Given the description of an element on the screen output the (x, y) to click on. 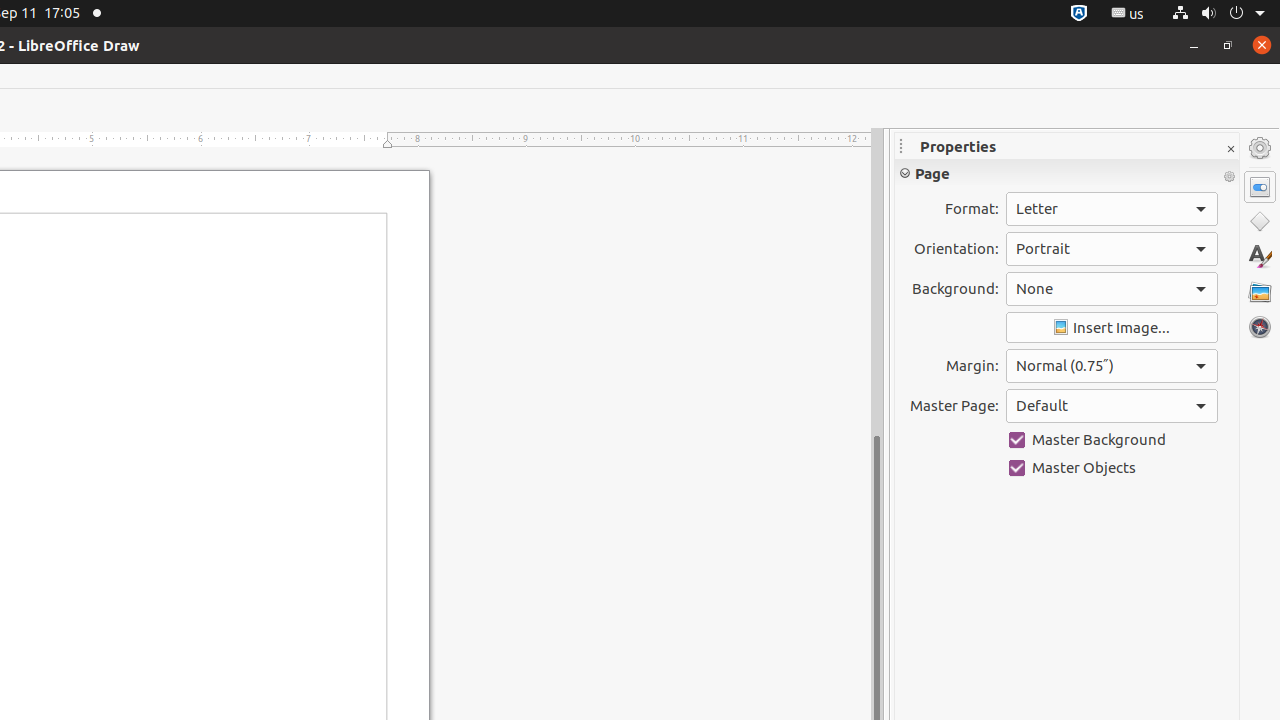
:1.21/StatusNotifierItem Element type: menu (1127, 13)
:1.72/StatusNotifierItem Element type: menu (1079, 13)
Shapes Element type: radio-button (1260, 222)
Gallery Element type: radio-button (1260, 292)
More Options Element type: push-button (1229, 177)
